Given the description of an element on the screen output the (x, y) to click on. 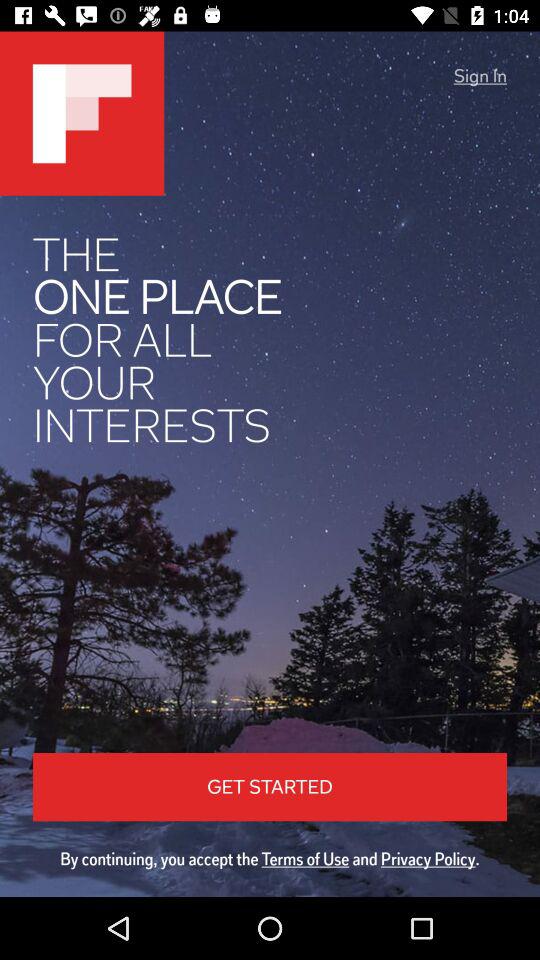
scroll until the sign in item (480, 75)
